Given the description of an element on the screen output the (x, y) to click on. 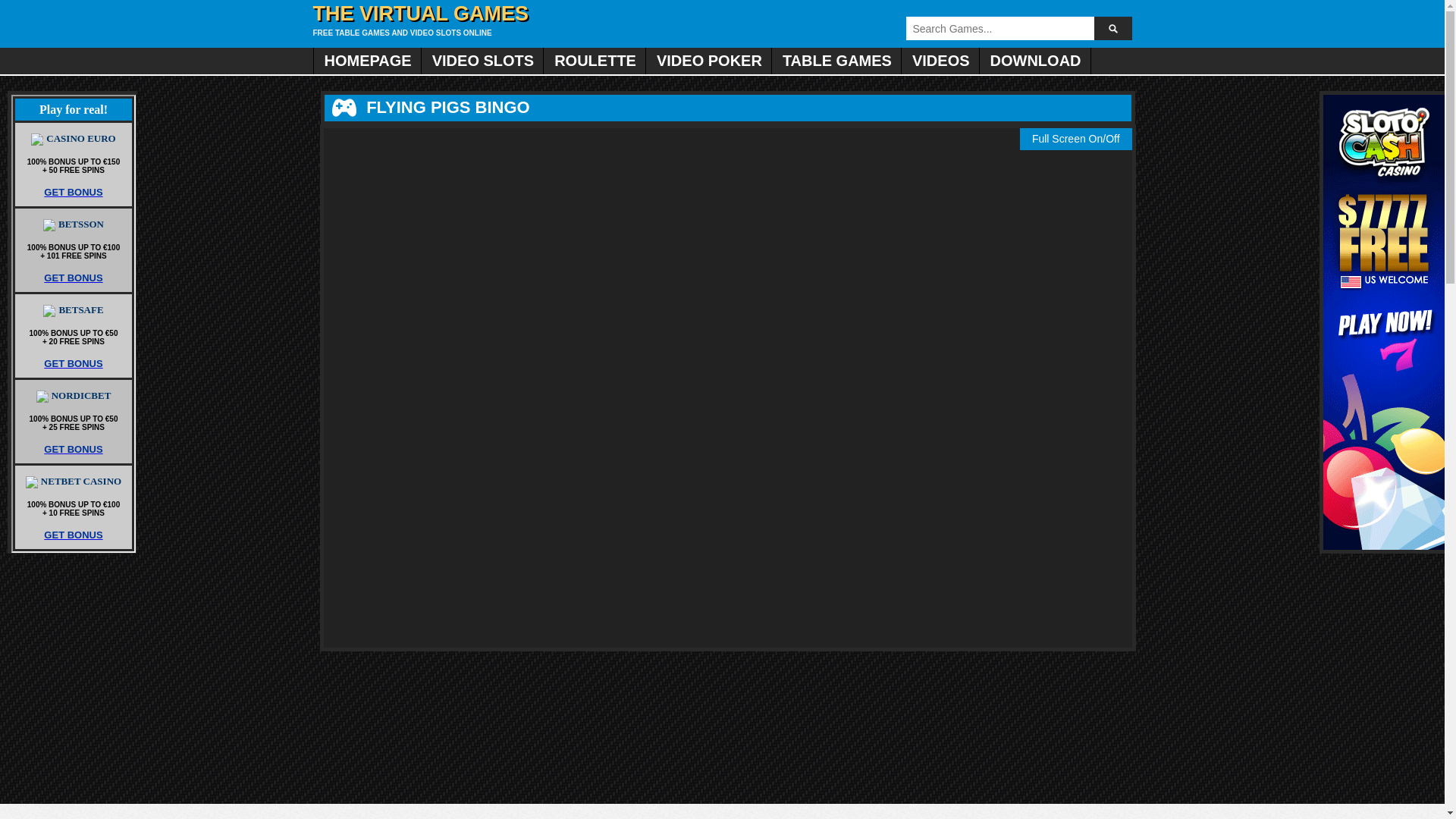
DOWNLOAD (1034, 60)
Search (1112, 28)
Search (1112, 28)
Search (1112, 28)
VIDEO POKER (708, 60)
THE VIRTUAL GAMES (420, 13)
VIDEO SLOTS (482, 60)
HOMEPAGE (367, 60)
ROULETTE (594, 60)
VIDEOS (939, 60)
TABLE GAMES (836, 60)
